Given the description of an element on the screen output the (x, y) to click on. 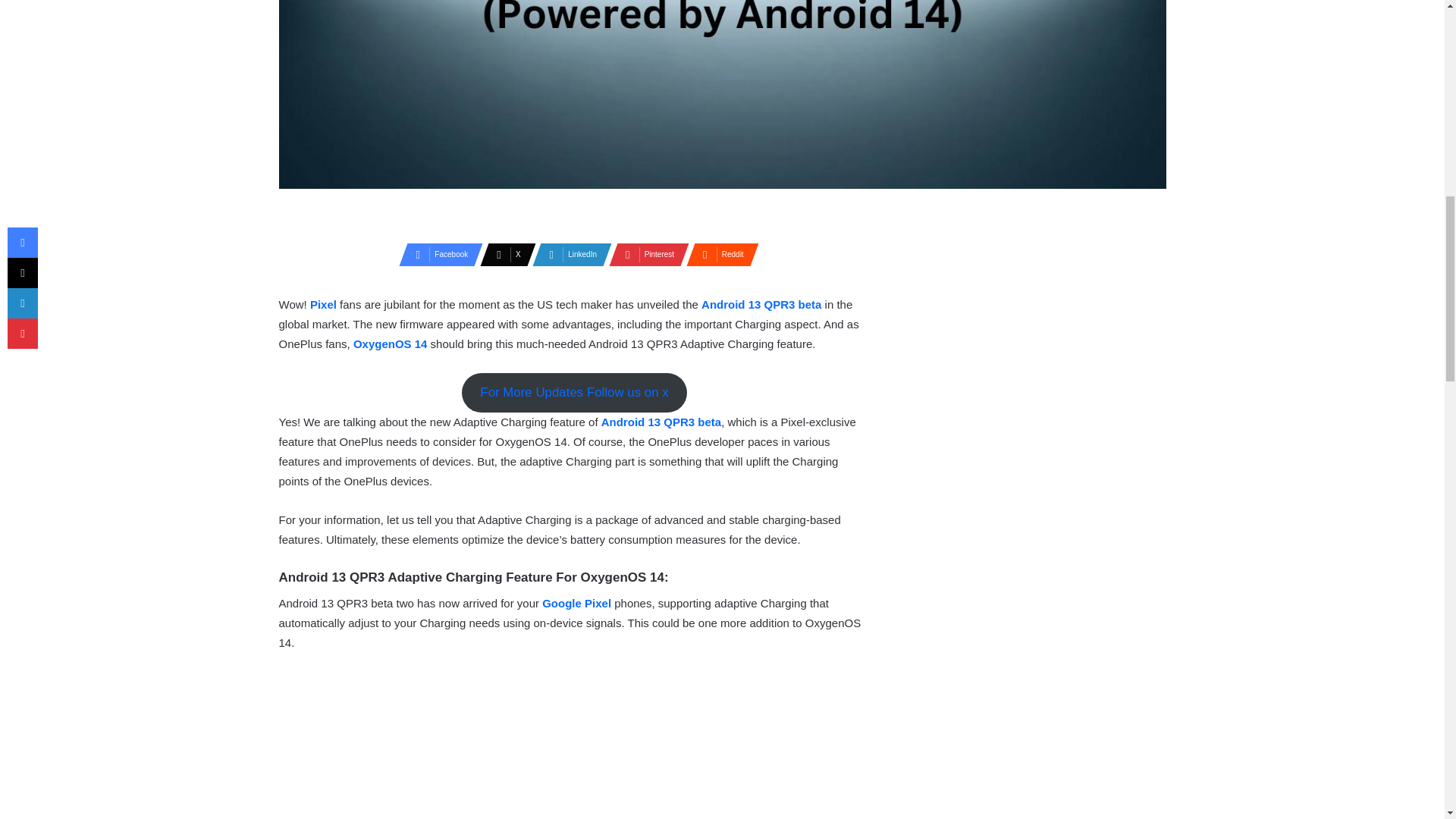
Pinterest (643, 254)
Pixel (324, 304)
For More Updates Follow us on x (574, 393)
Pinterest (643, 254)
Facebook (436, 254)
Android 13 QPR3 beta (761, 304)
OxygenOS 14 (390, 343)
LinkedIn (567, 254)
X (503, 254)
X (503, 254)
LinkedIn (567, 254)
Android 13 QPR3 beta (660, 421)
Reddit (717, 254)
Facebook (436, 254)
Reddit (717, 254)
